Given the description of an element on the screen output the (x, y) to click on. 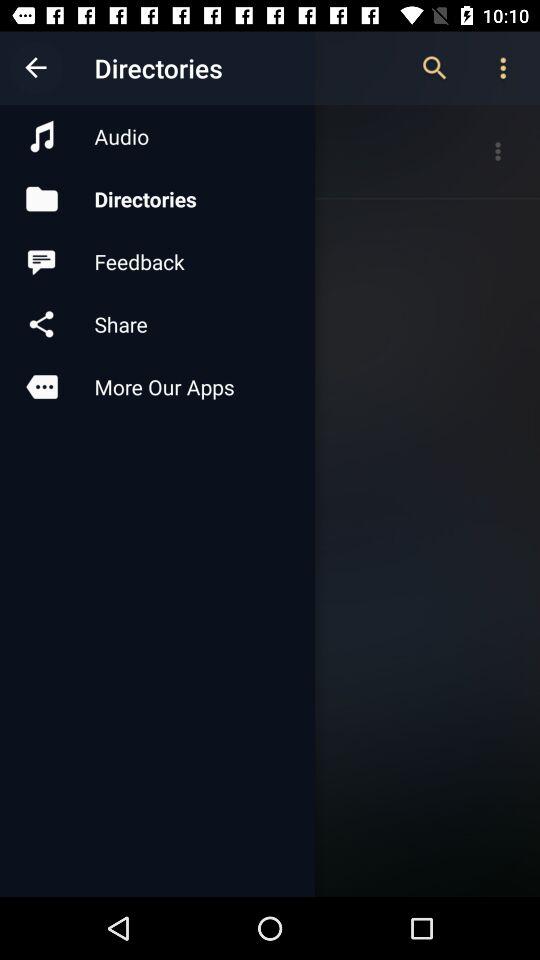
scroll until the more our apps item (157, 386)
